Given the description of an element on the screen output the (x, y) to click on. 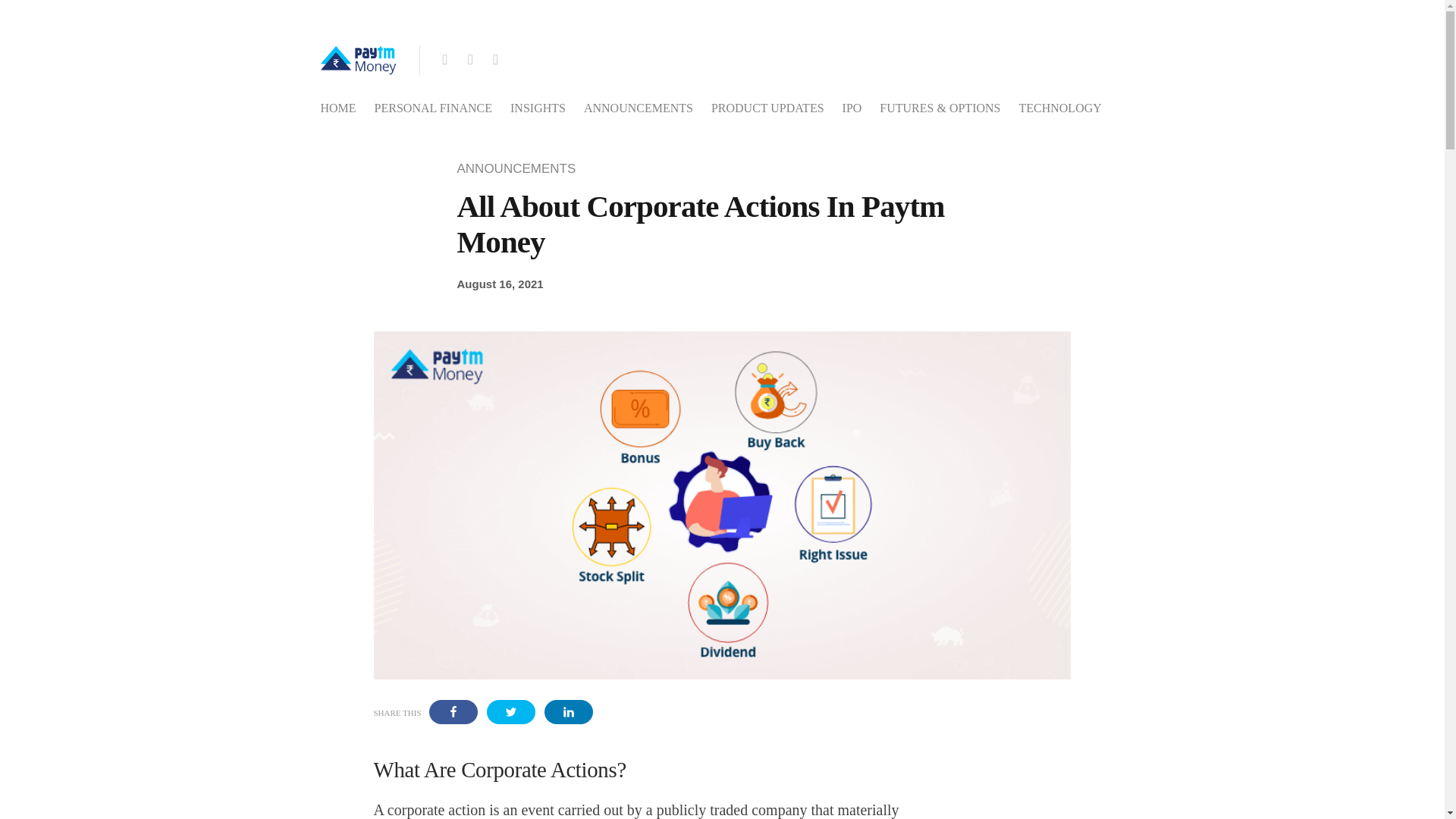
Share on LinkedIn (568, 711)
HOME (337, 107)
Paytm Blog (358, 54)
INSIGHTS (538, 107)
Share on Facebook (453, 711)
Share on Twitter (510, 711)
PRODUCT UPDATES (767, 107)
Announcements (520, 168)
PERSONAL FINANCE (433, 107)
ANNOUNCEMENTS (520, 168)
IPO (852, 107)
TECHNOLOGY (1058, 107)
ANNOUNCEMENTS (638, 107)
